Given the description of an element on the screen output the (x, y) to click on. 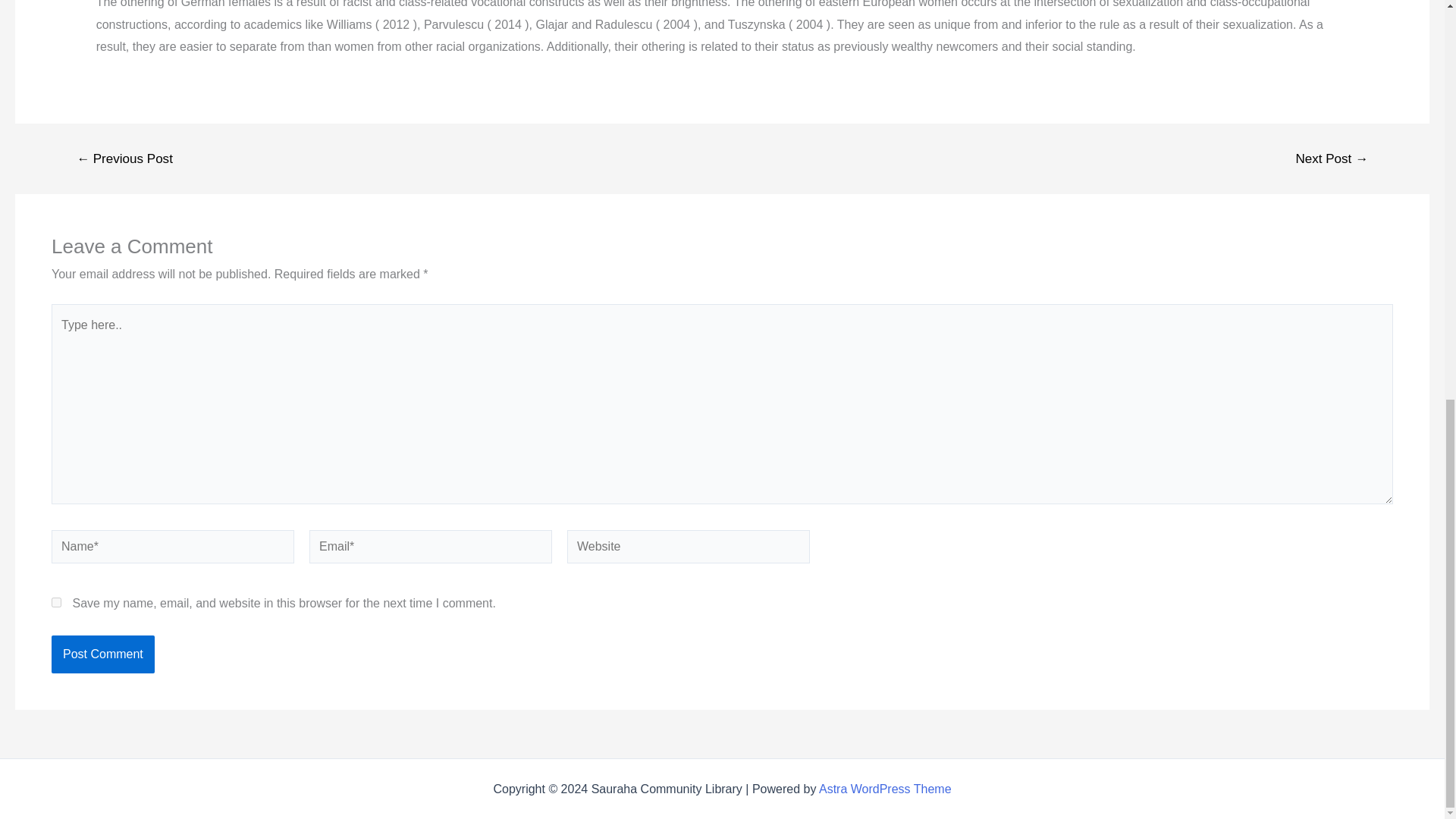
Post Comment (102, 654)
Post Comment (102, 654)
Astra WordPress Theme (885, 788)
yes (55, 602)
